Given the description of an element on the screen output the (x, y) to click on. 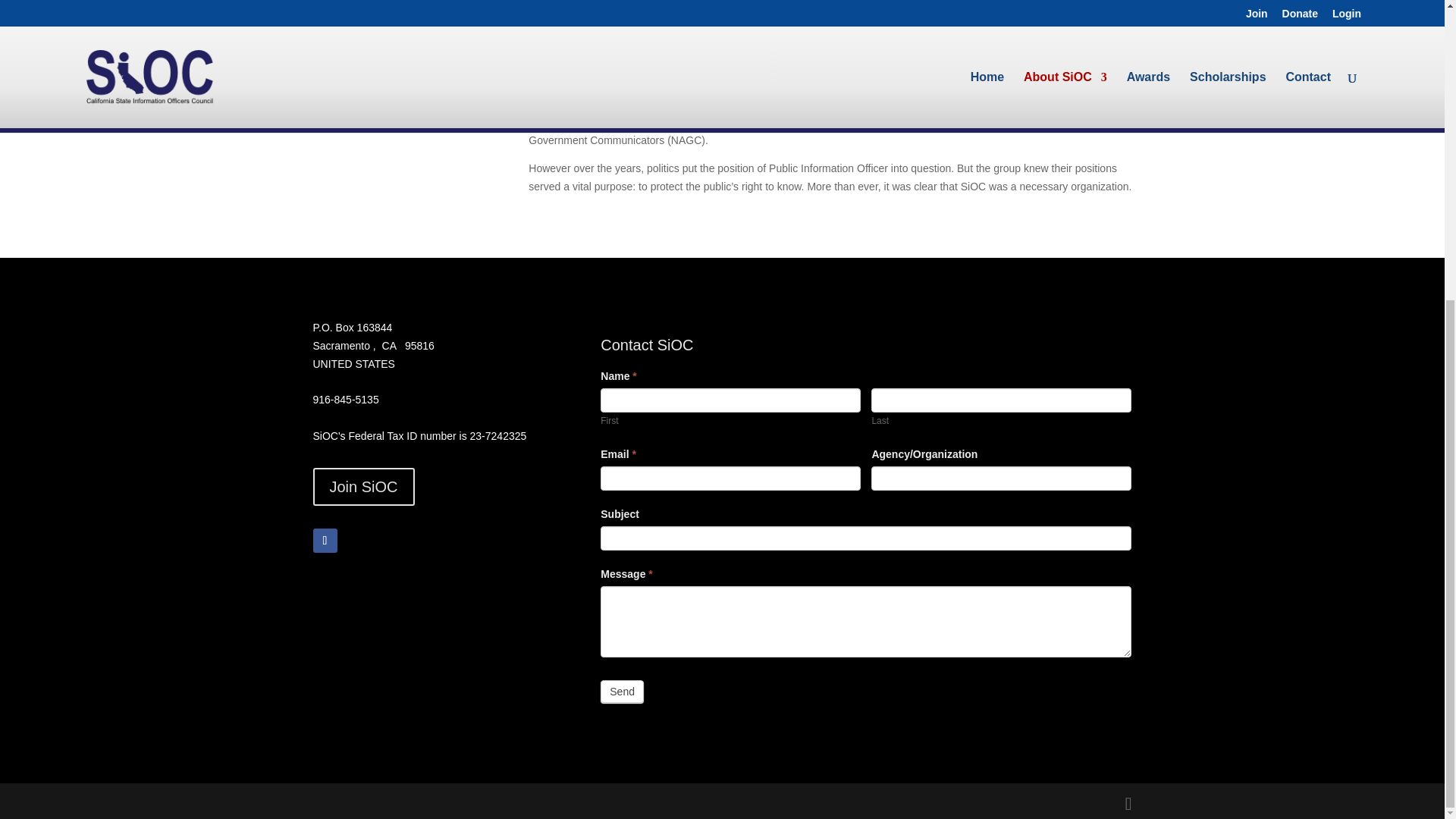
Join SiOC (363, 486)
Follow on Facebook (324, 540)
Send (621, 691)
Send (621, 691)
